Given the description of an element on the screen output the (x, y) to click on. 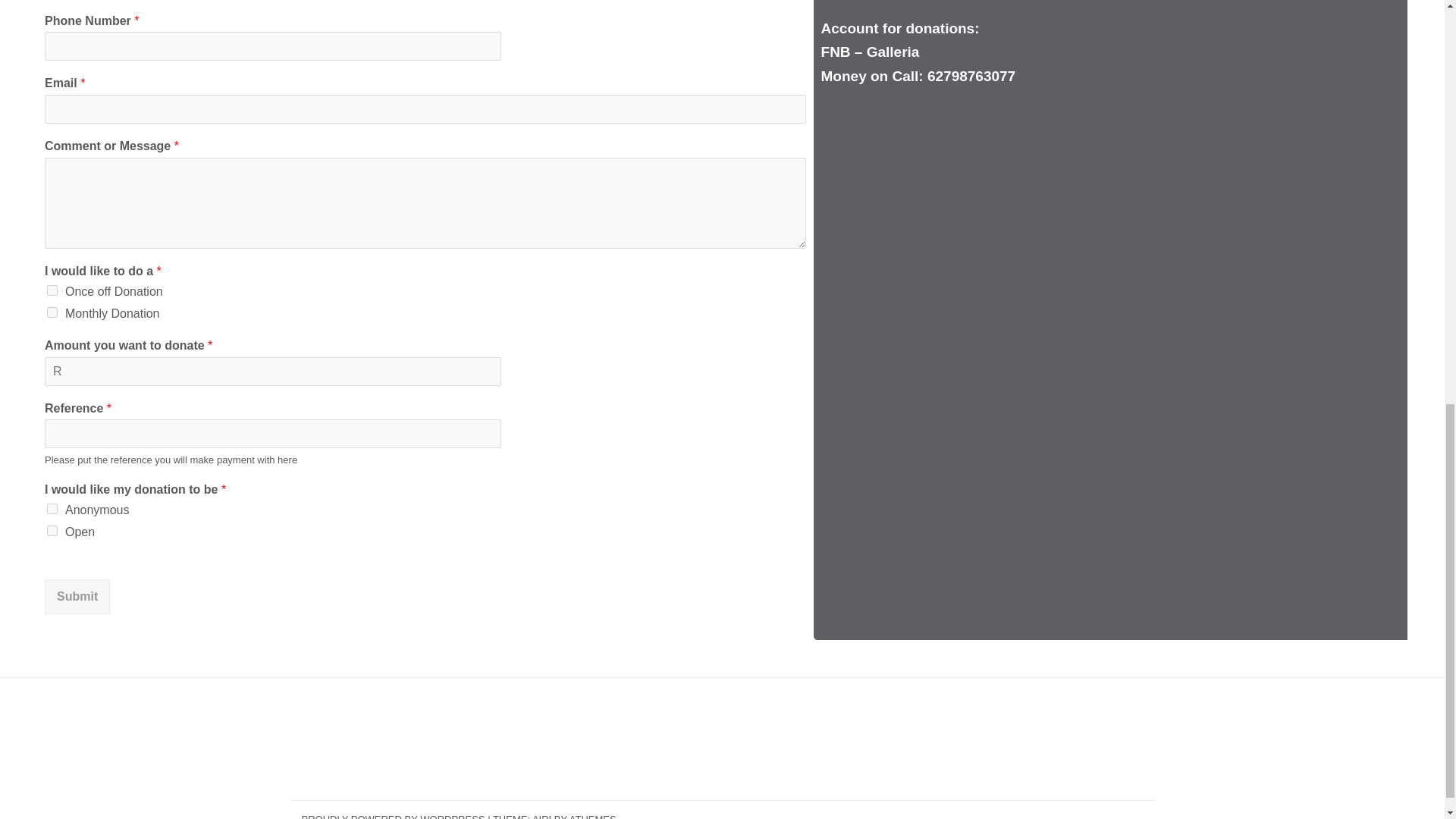
Submit (77, 596)
Monthly Donation (52, 312)
Open  (52, 530)
AIRI (541, 816)
PROUDLY POWERED BY WORDPRESS (392, 816)
Once off Donation (52, 290)
Anonymous (52, 508)
